Given the description of an element on the screen output the (x, y) to click on. 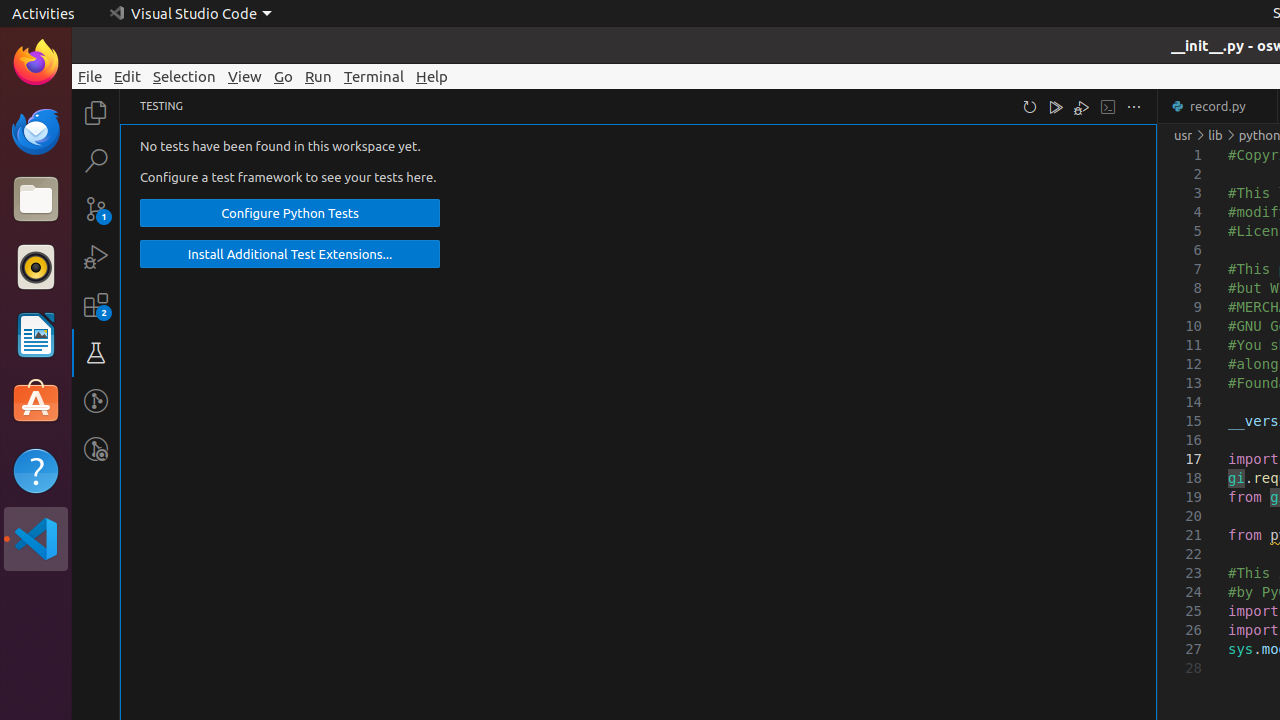
Search (Ctrl+Shift+F) Element type: page-tab (96, 160)
Show Output (Ctrl+; Ctrl+O) Element type: push-button (1108, 106)
Debug Tests Element type: push-button (1082, 106)
Run Tests Element type: push-button (1056, 106)
Run Element type: push-button (318, 76)
